Given the description of an element on the screen output the (x, y) to click on. 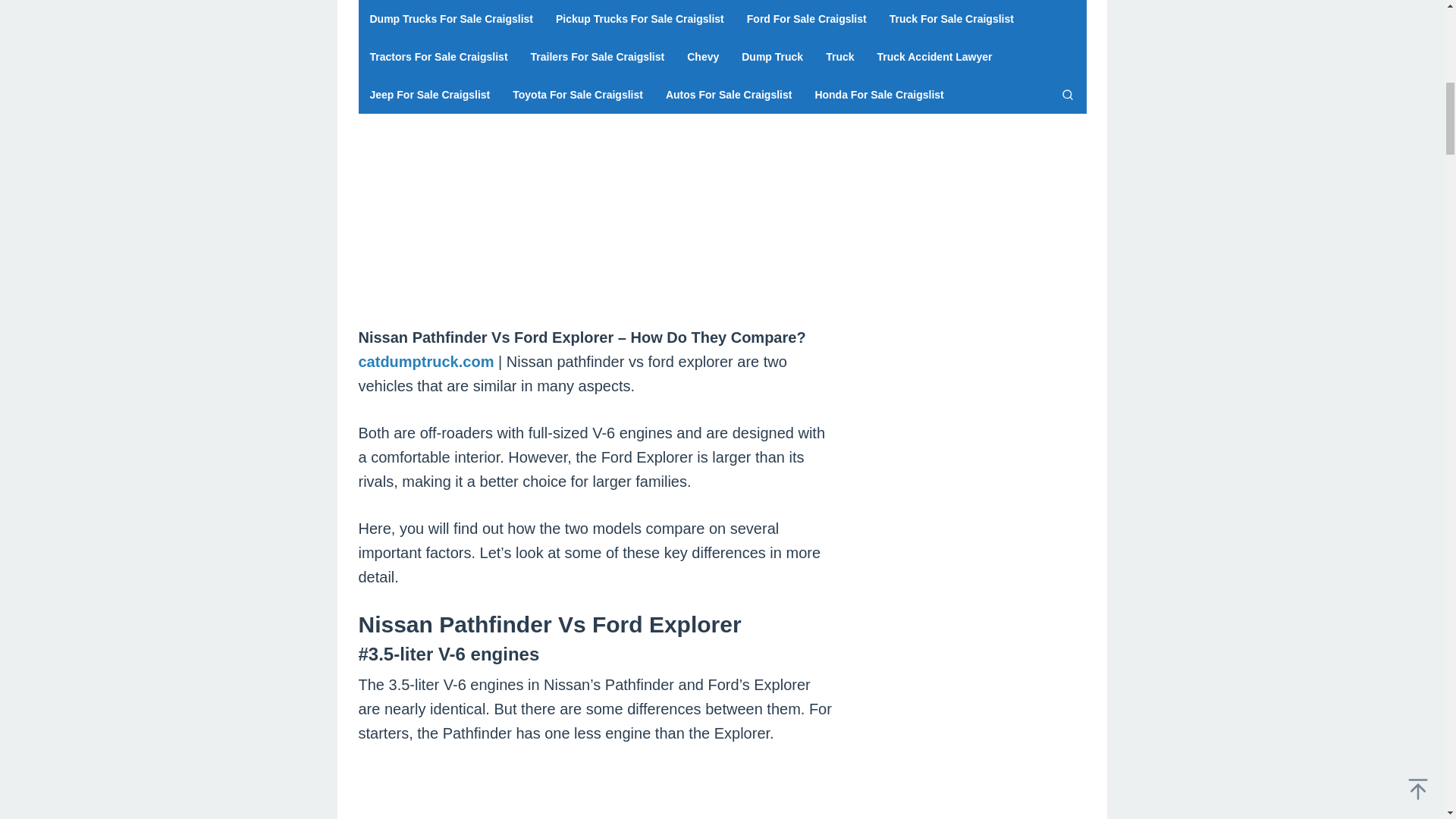
catdumptruck.com (425, 361)
